Given the description of an element on the screen output the (x, y) to click on. 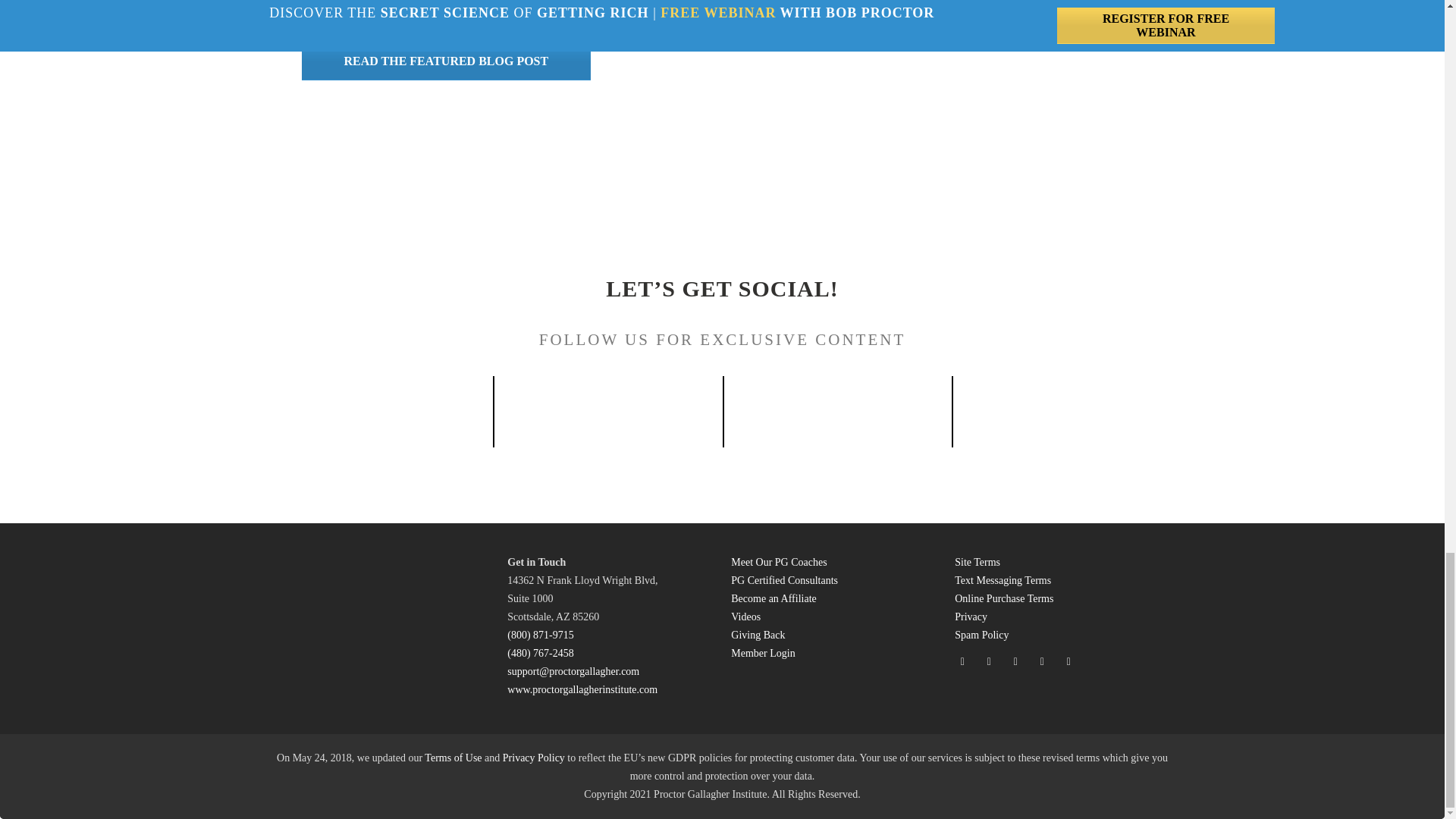
home-featured-blog-image (958, 55)
home-fb-social-icon-70 (377, 404)
home-twitter-social-icon-70 (1067, 403)
home-yt-social-icon-70 (837, 404)
home-ig-social-icon-70 (608, 403)
READ THE FEATURED BLOG POST (446, 61)
